Given the description of an element on the screen output the (x, y) to click on. 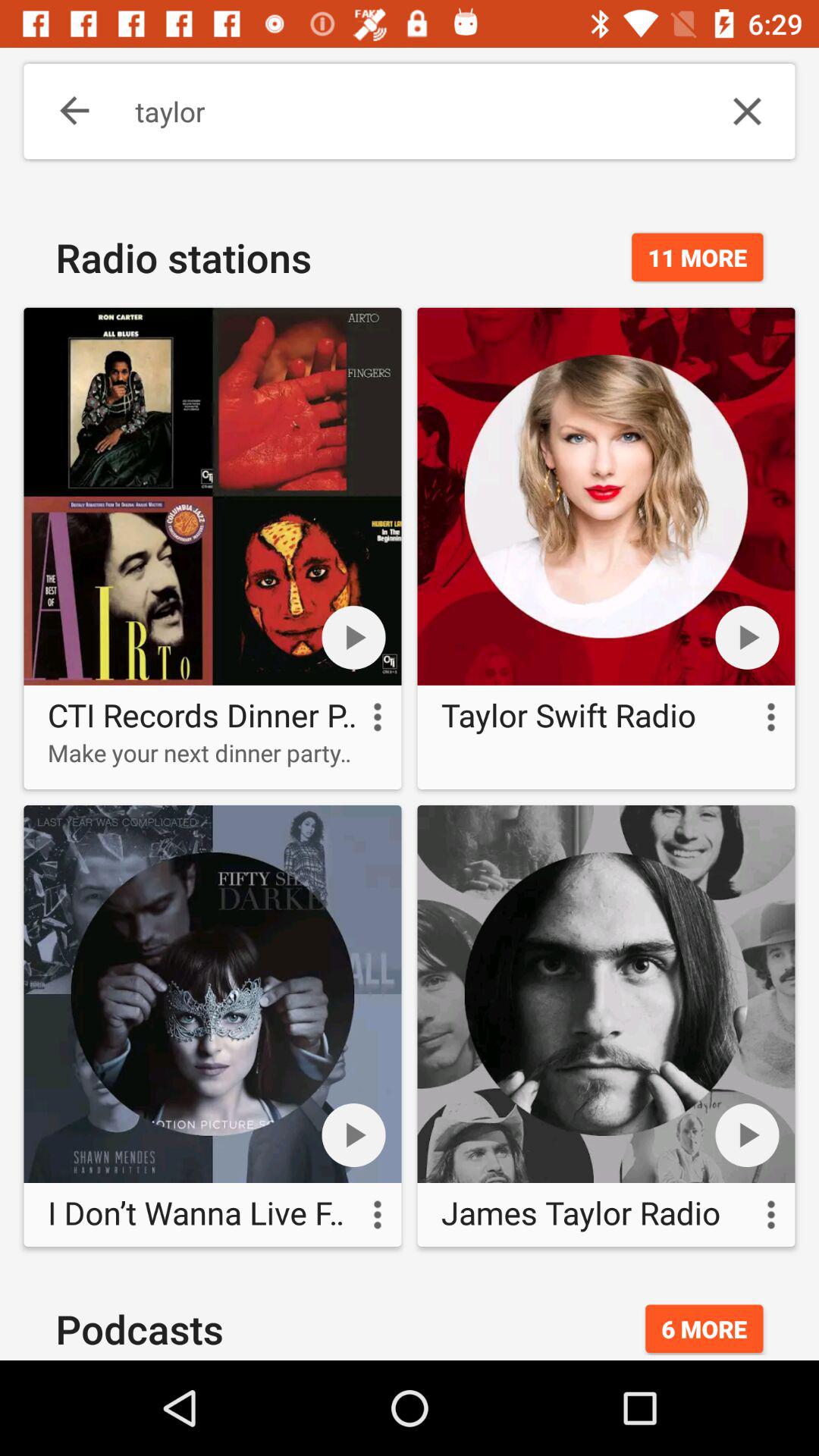
click the item to the left of the taylor item (63, 111)
